Given the description of an element on the screen output the (x, y) to click on. 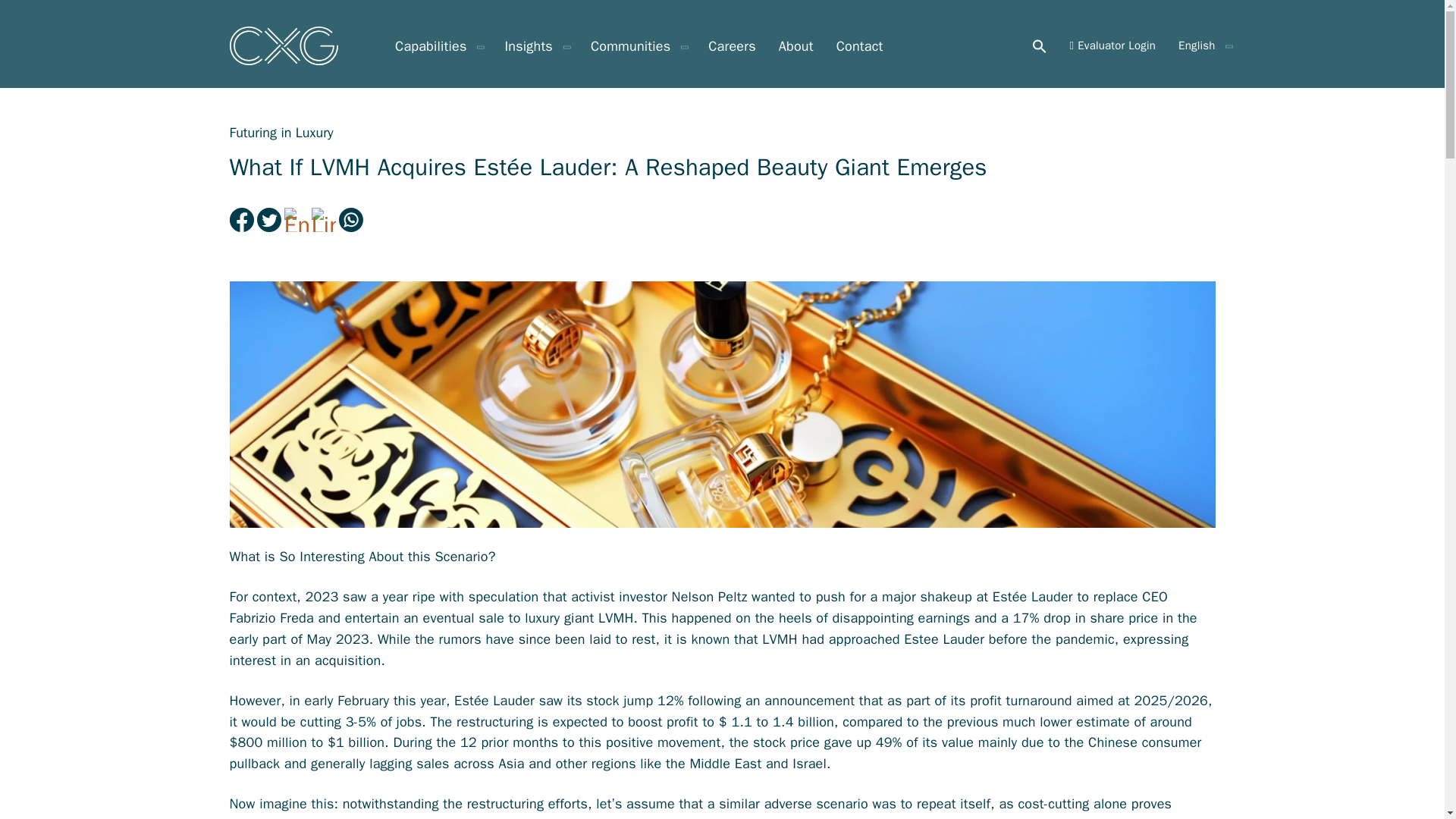
Email (297, 219)
Careers (732, 45)
Facebook (242, 219)
Contact (859, 45)
About (795, 45)
Capabilities (437, 45)
Communities (637, 45)
Evaluator Login (1113, 45)
LinkedIn (324, 219)
CXG (282, 45)
WhatsApp (351, 219)
Insights (535, 45)
Twitter (269, 219)
